Given the description of an element on the screen output the (x, y) to click on. 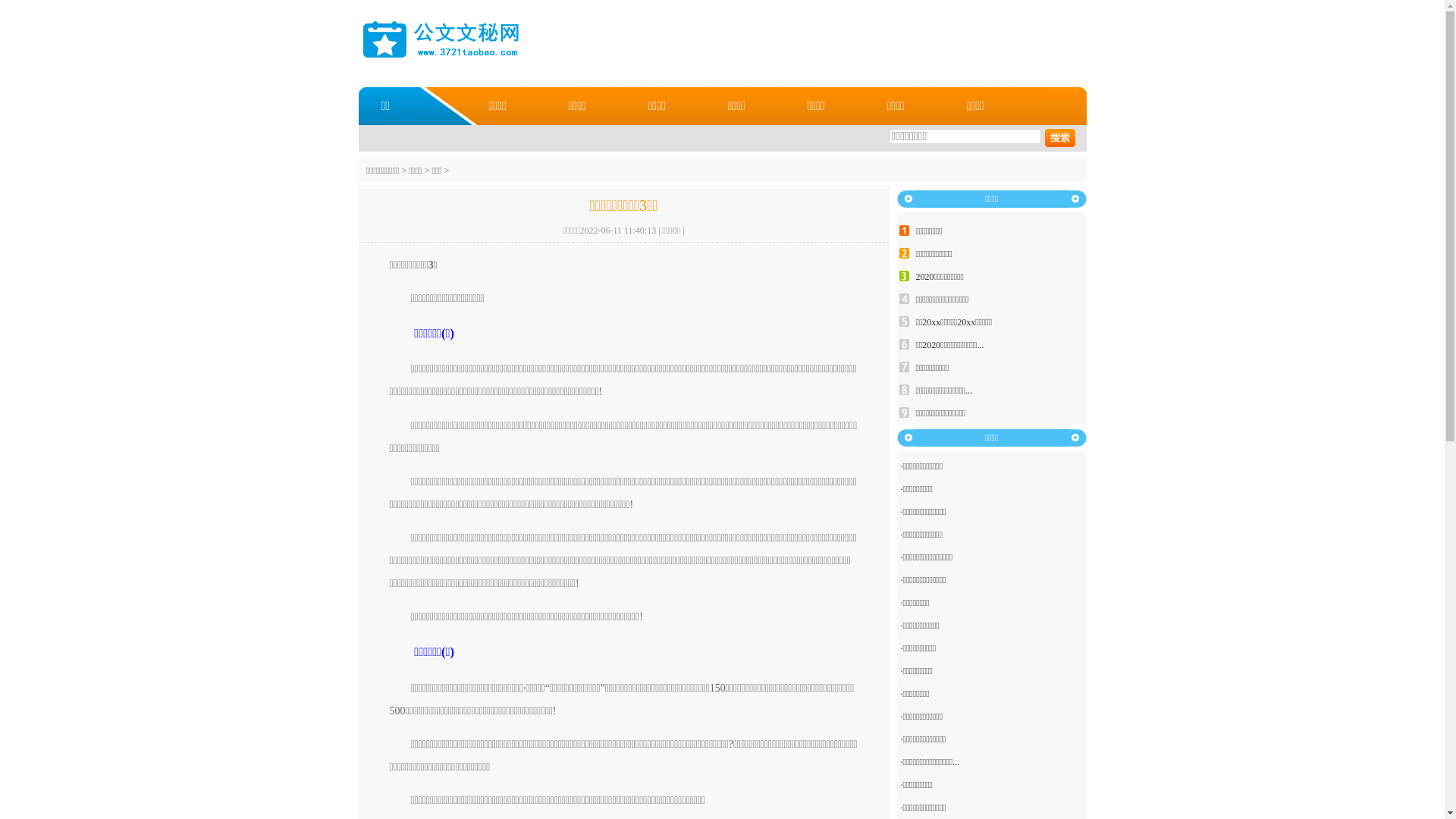
search Element type: hover (1059, 137)
